Given the description of an element on the screen output the (x, y) to click on. 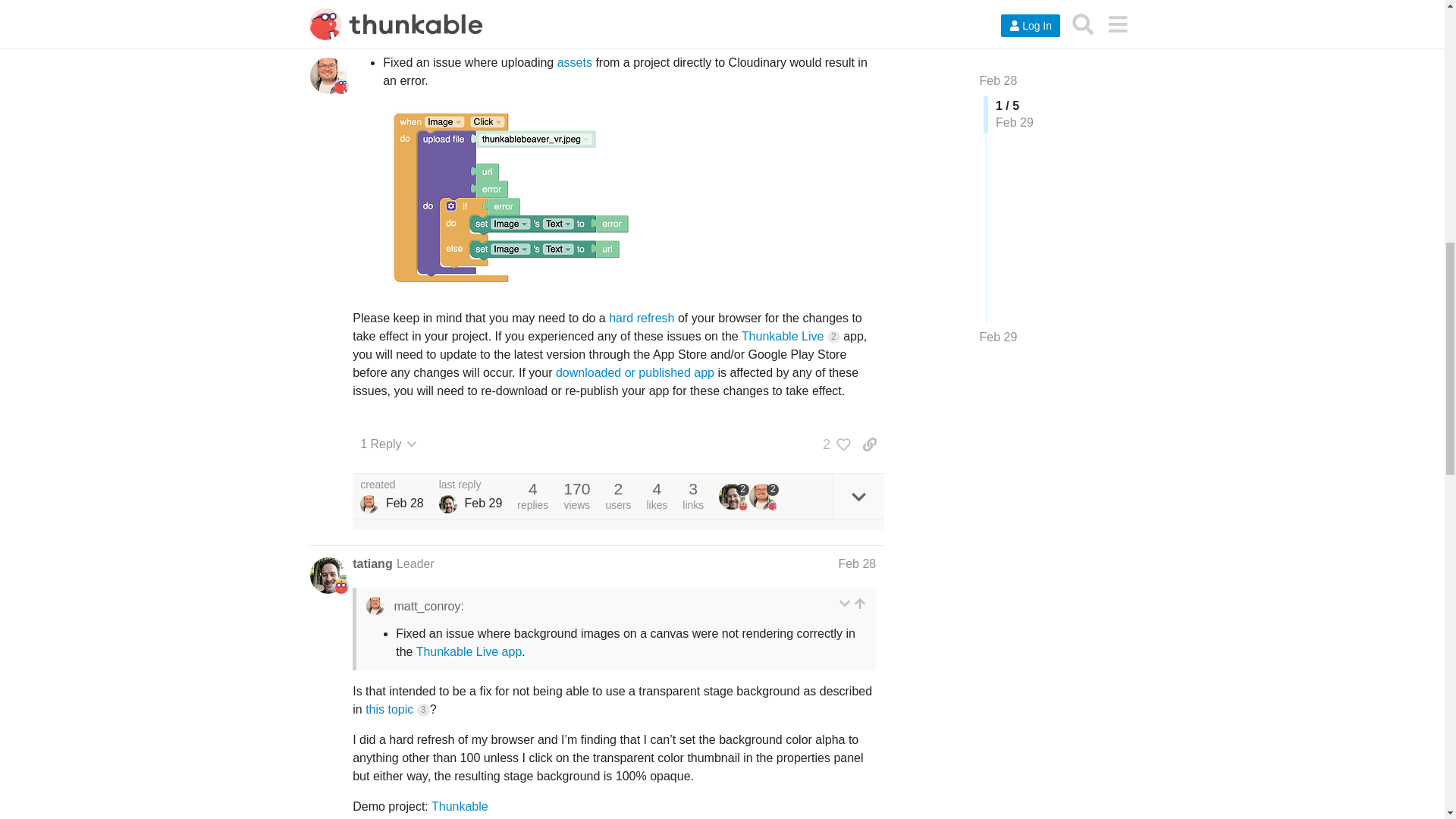
2 clicks (833, 336)
1 Reply (387, 443)
hard refresh (643, 318)
downloaded or published app (635, 372)
Thunkable Live 2 (790, 336)
2 people liked this post (832, 444)
2 (832, 444)
user tracking usage description (604, 13)
Screenshot 2024-02-27 at 11.04.51 AM (508, 196)
iOS App Tracking Issues (692, 31)
last reply (470, 484)
assets (574, 62)
